Given the description of an element on the screen output the (x, y) to click on. 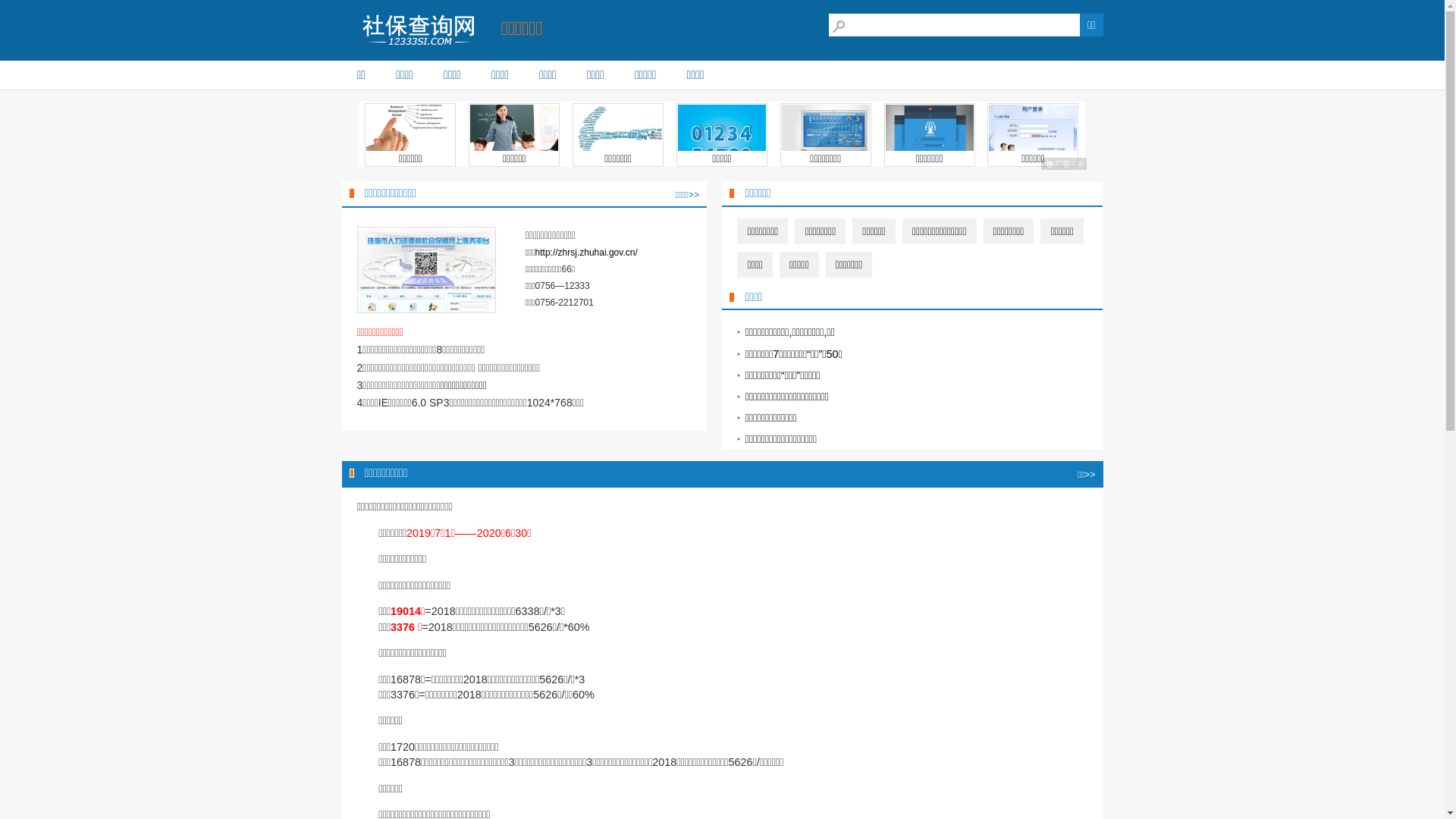
http://zhrsj.zhuhai.gov.cn/ Element type: text (586, 252)
